Given the description of an element on the screen output the (x, y) to click on. 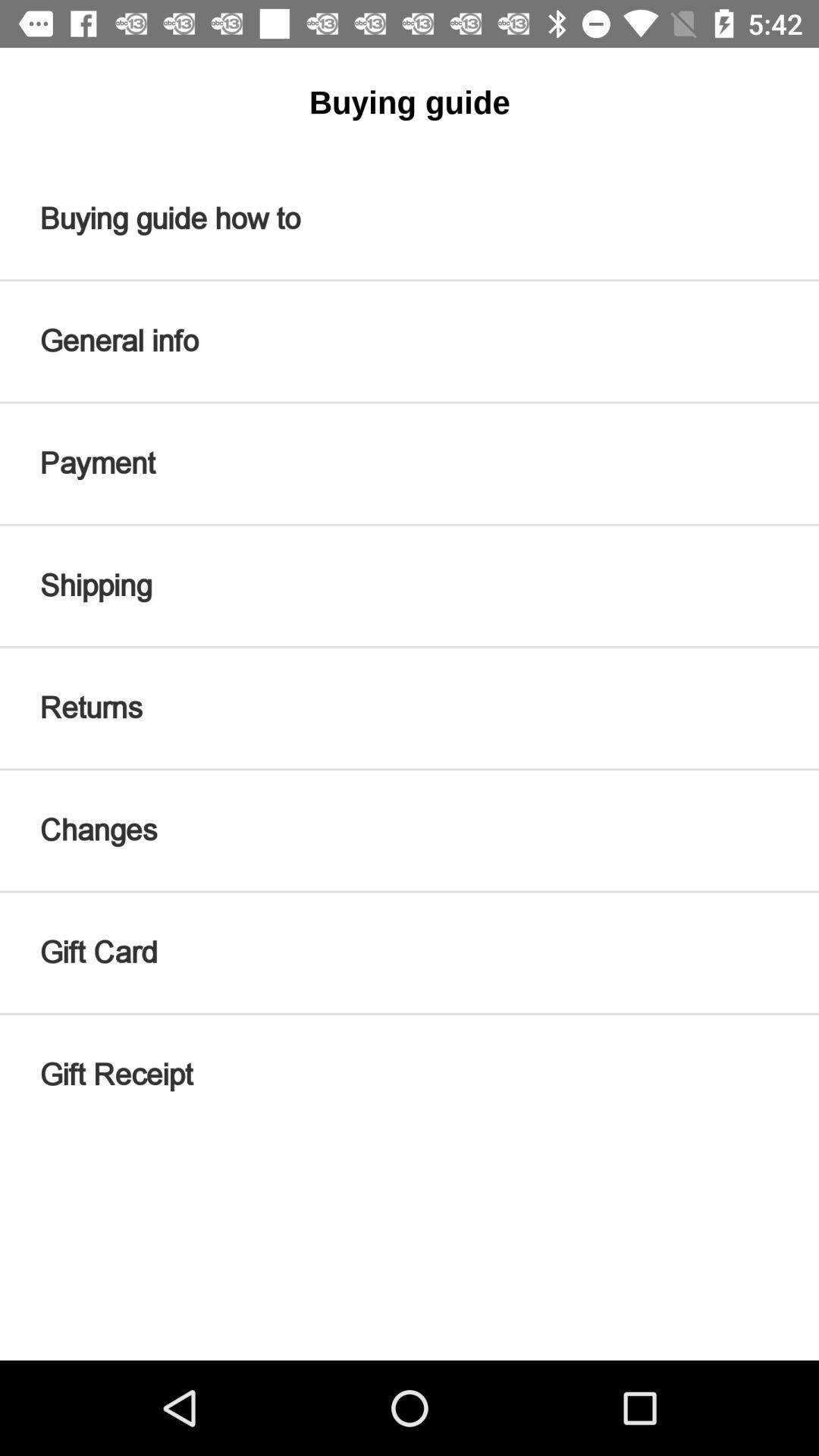
swipe to payment icon (409, 463)
